Given the description of an element on the screen output the (x, y) to click on. 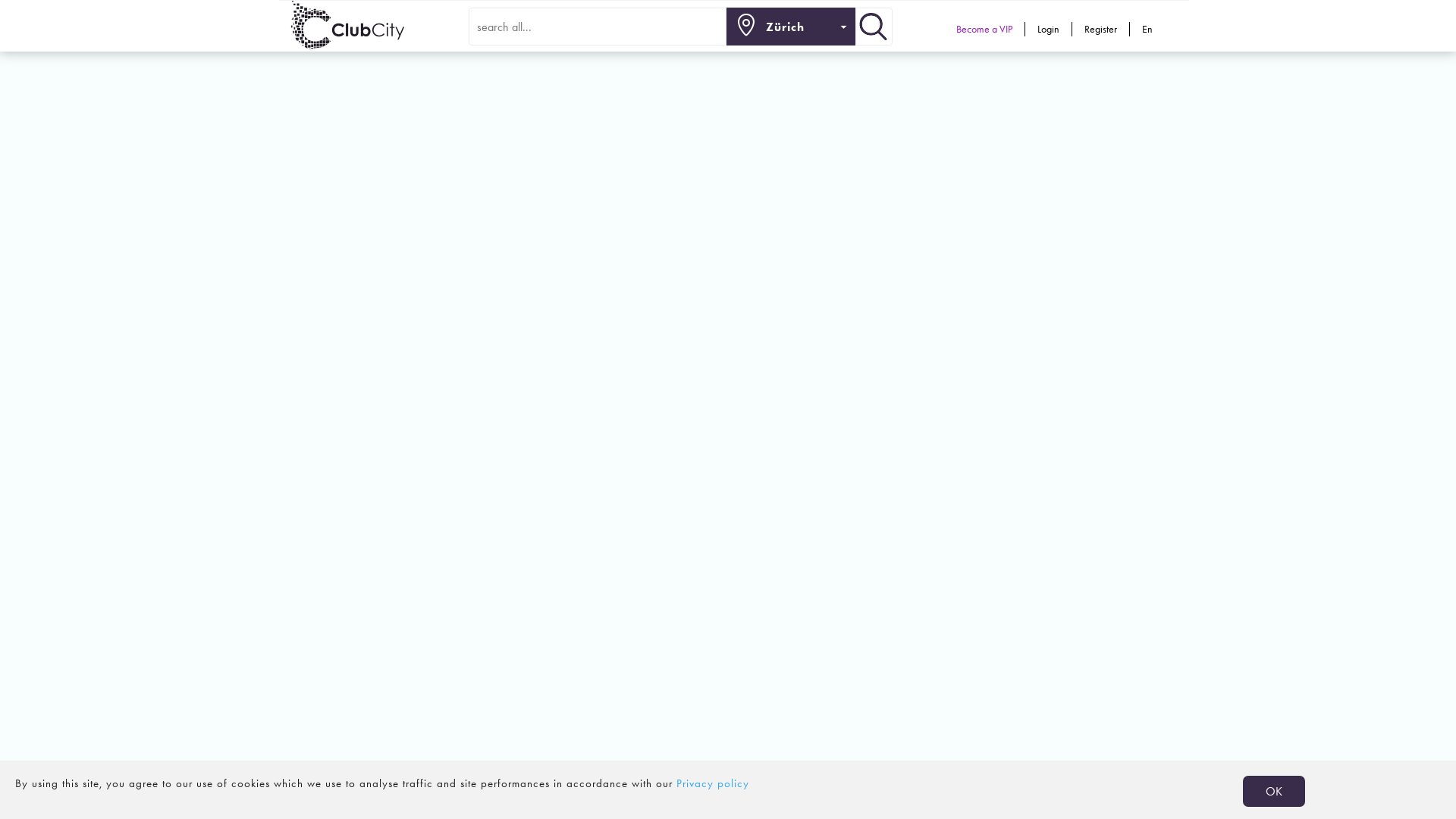
OK Element type: text (1273, 790)
Privacy policy Element type: text (712, 782)
Login Element type: text (1048, 28)
En Element type: text (1146, 28)
OK Element type: text (1273, 790)
Become a VIP Element type: text (983, 28)
Register Element type: text (1100, 28)
